Given the description of an element on the screen output the (x, y) to click on. 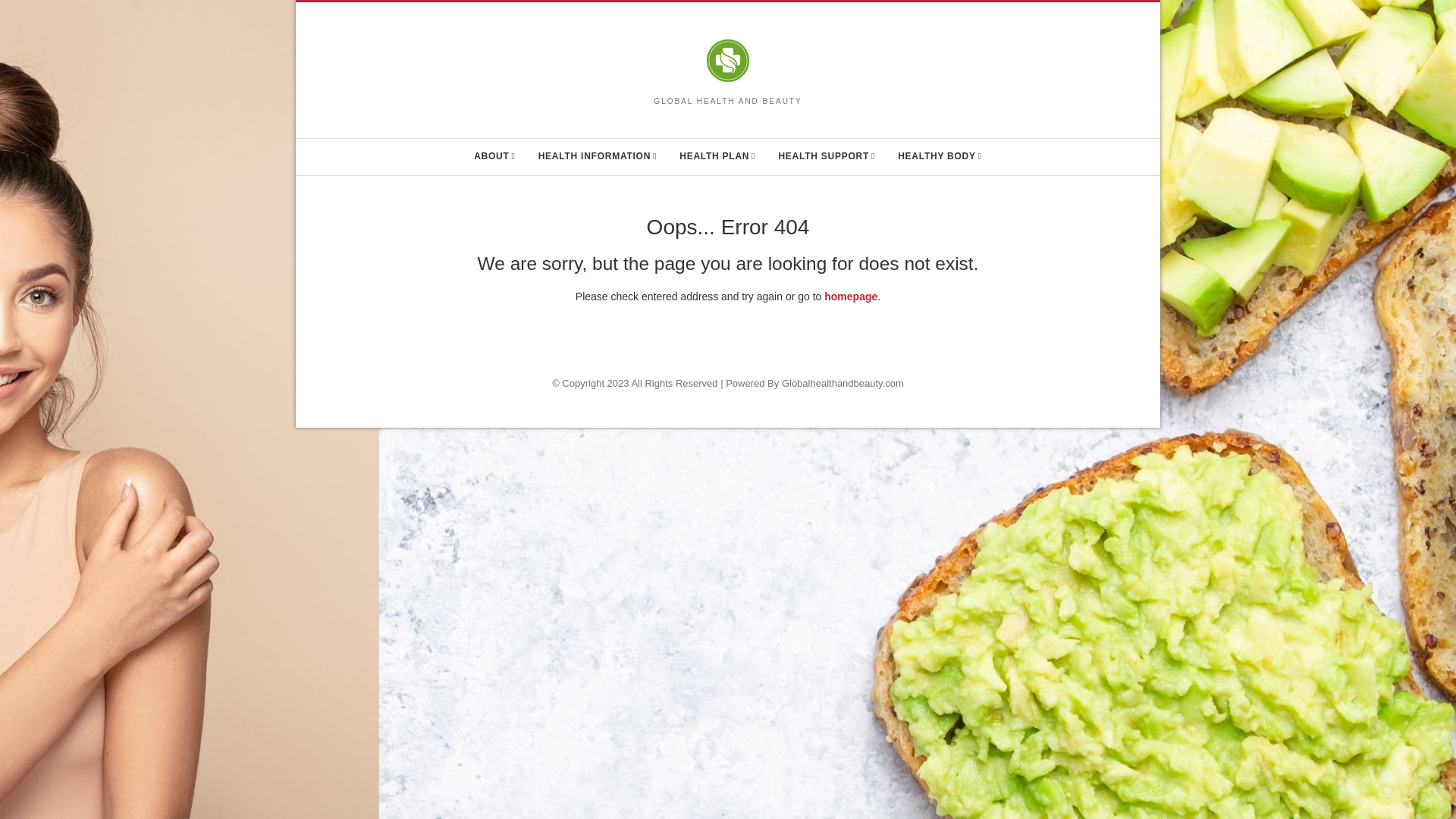
HEALTH PLAN (717, 156)
HEALTH INFORMATION (597, 156)
ABOUT (495, 156)
